Given the description of an element on the screen output the (x, y) to click on. 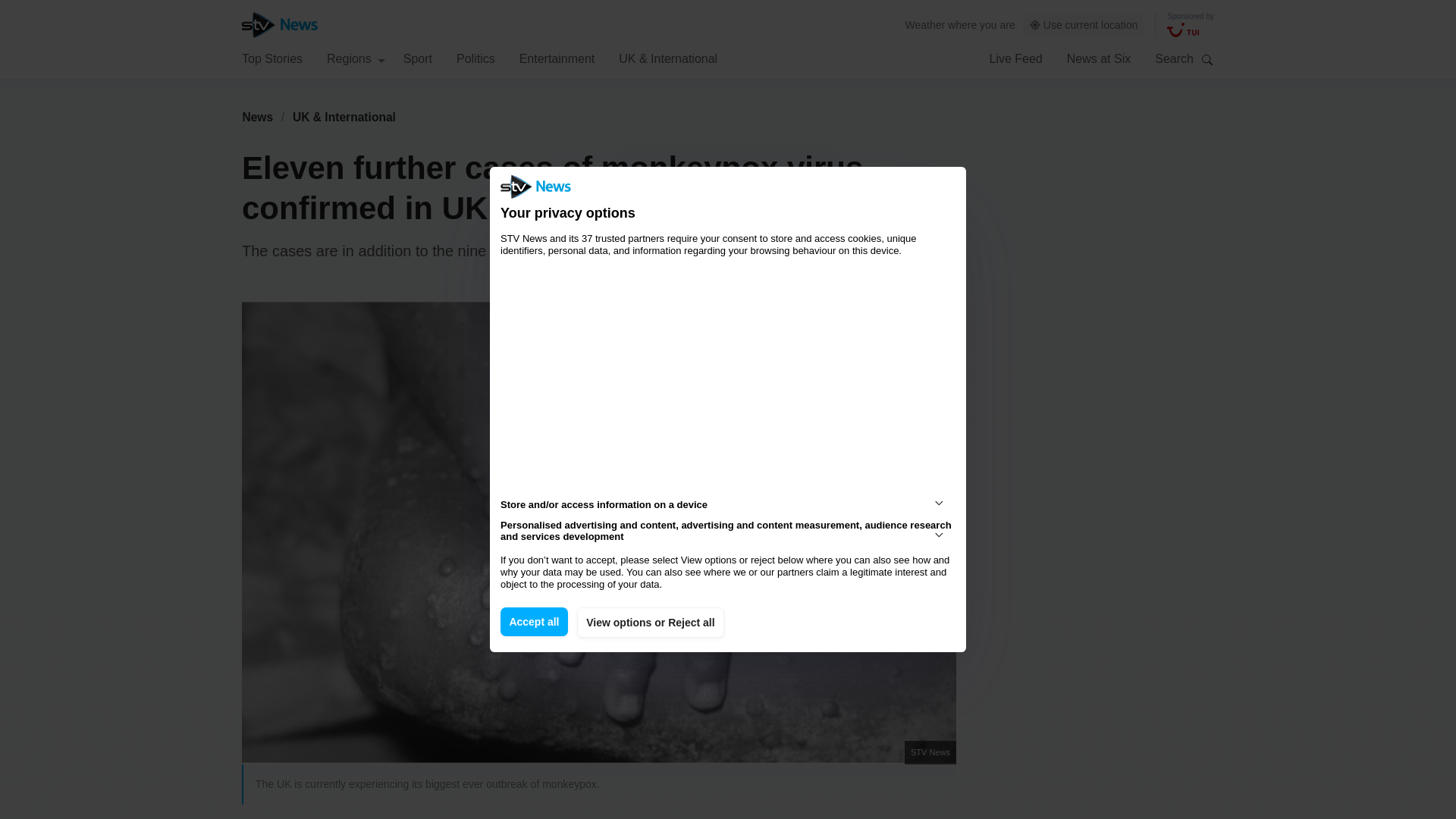
Regions (355, 57)
Live Feed (1015, 57)
Top Stories (271, 57)
Search (1206, 59)
Weather (924, 24)
News at Six (1099, 57)
News (257, 116)
Politics (476, 57)
Use current location (1083, 25)
Entertainment (557, 57)
